Given the description of an element on the screen output the (x, y) to click on. 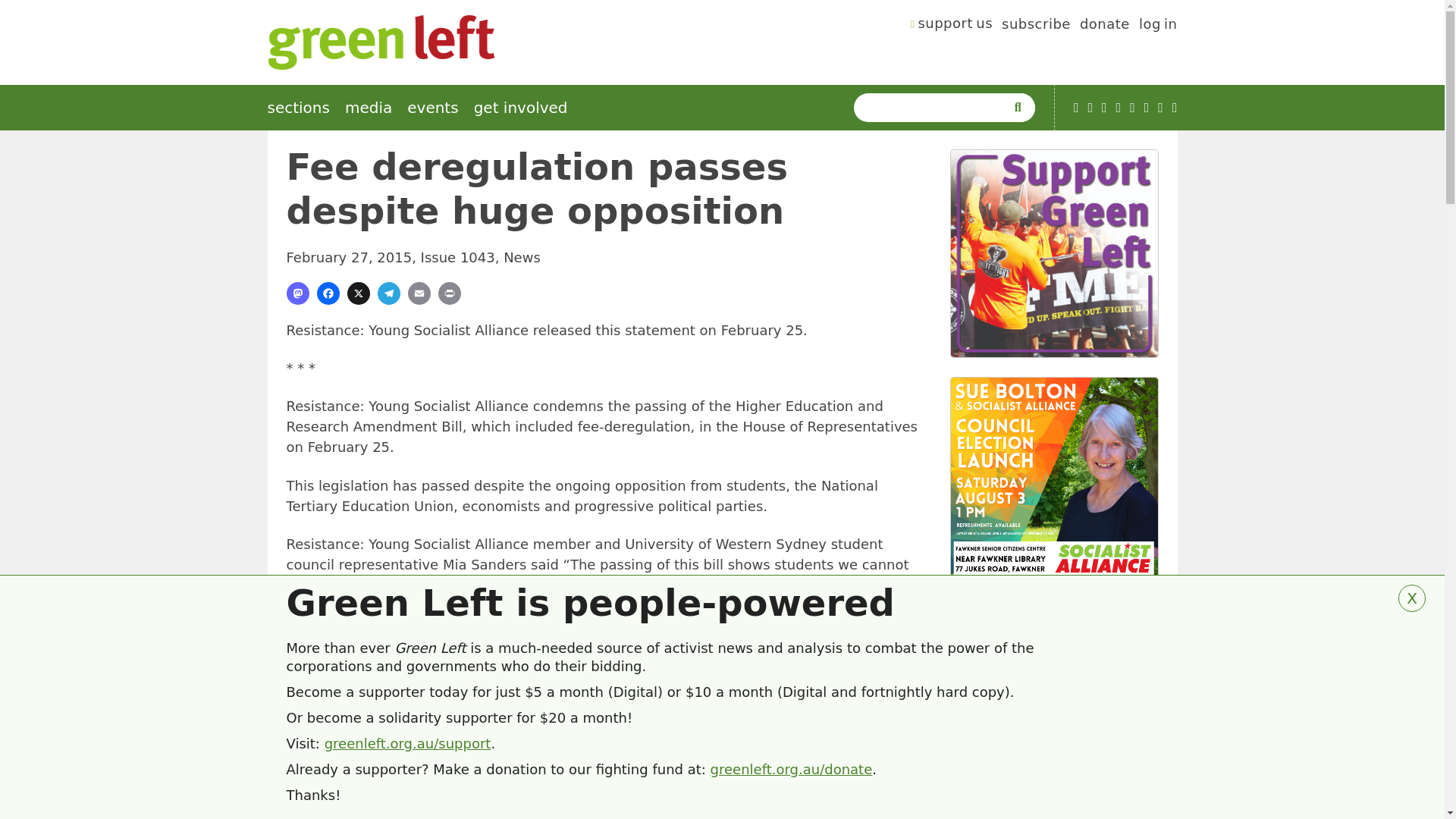
Share on Facebook (328, 292)
share via email (418, 292)
Share on Telegram (388, 292)
log in (1157, 26)
Enter the terms you wish to search for. (932, 107)
donate (1104, 26)
support us (951, 26)
Share on Mastondon (297, 292)
events (432, 107)
Print (449, 292)
Share on X (358, 292)
subscribe (1035, 26)
